Given the description of an element on the screen output the (x, y) to click on. 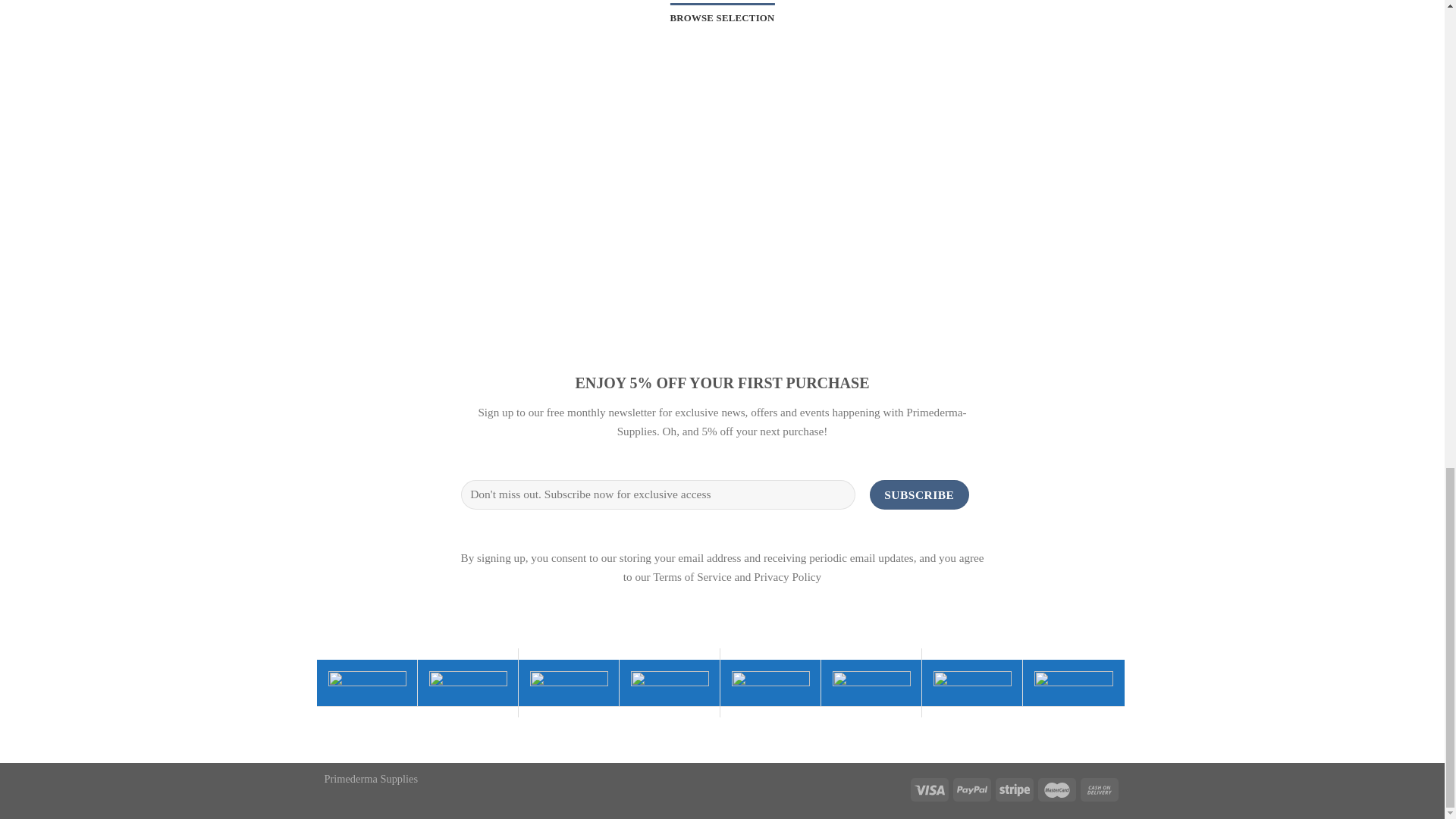
Subscribe (919, 494)
